Given the description of an element on the screen output the (x, y) to click on. 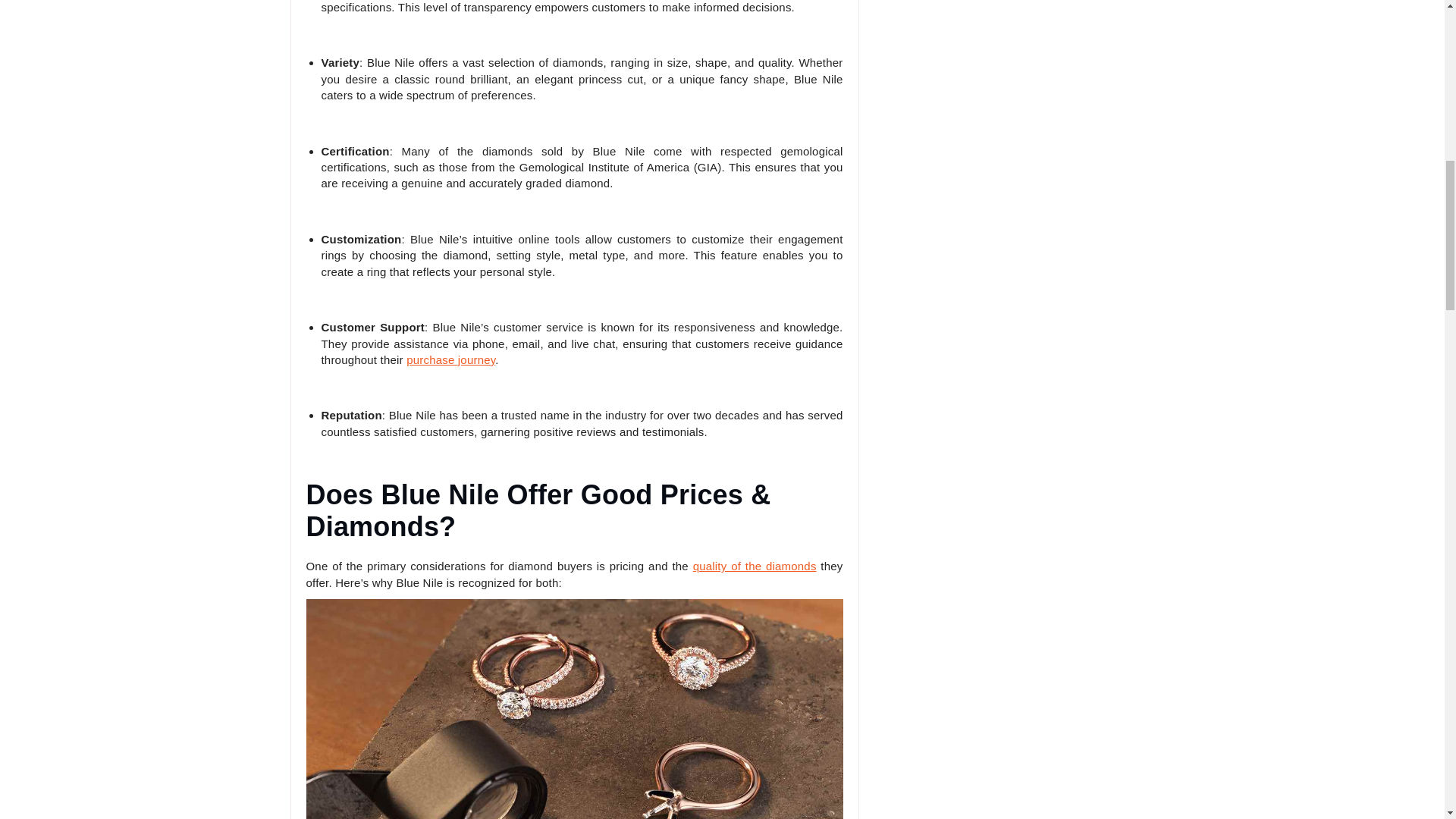
Blue Nile Diamond Rings (574, 708)
